Given the description of an element on the screen output the (x, y) to click on. 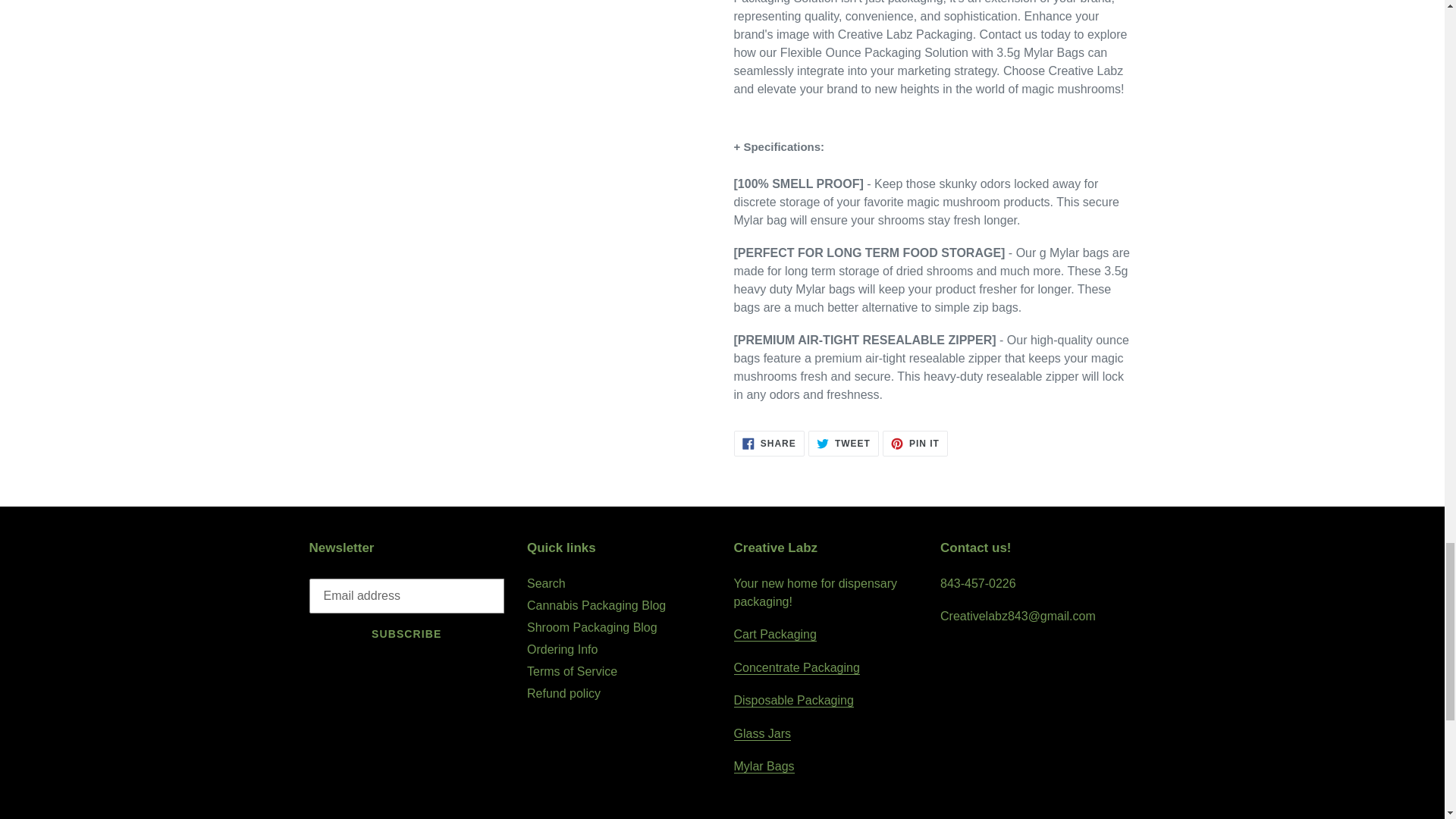
Concentrate Packaging (796, 667)
Cartridge Packaging (774, 634)
Disposable Packaging (793, 700)
